Given the description of an element on the screen output the (x, y) to click on. 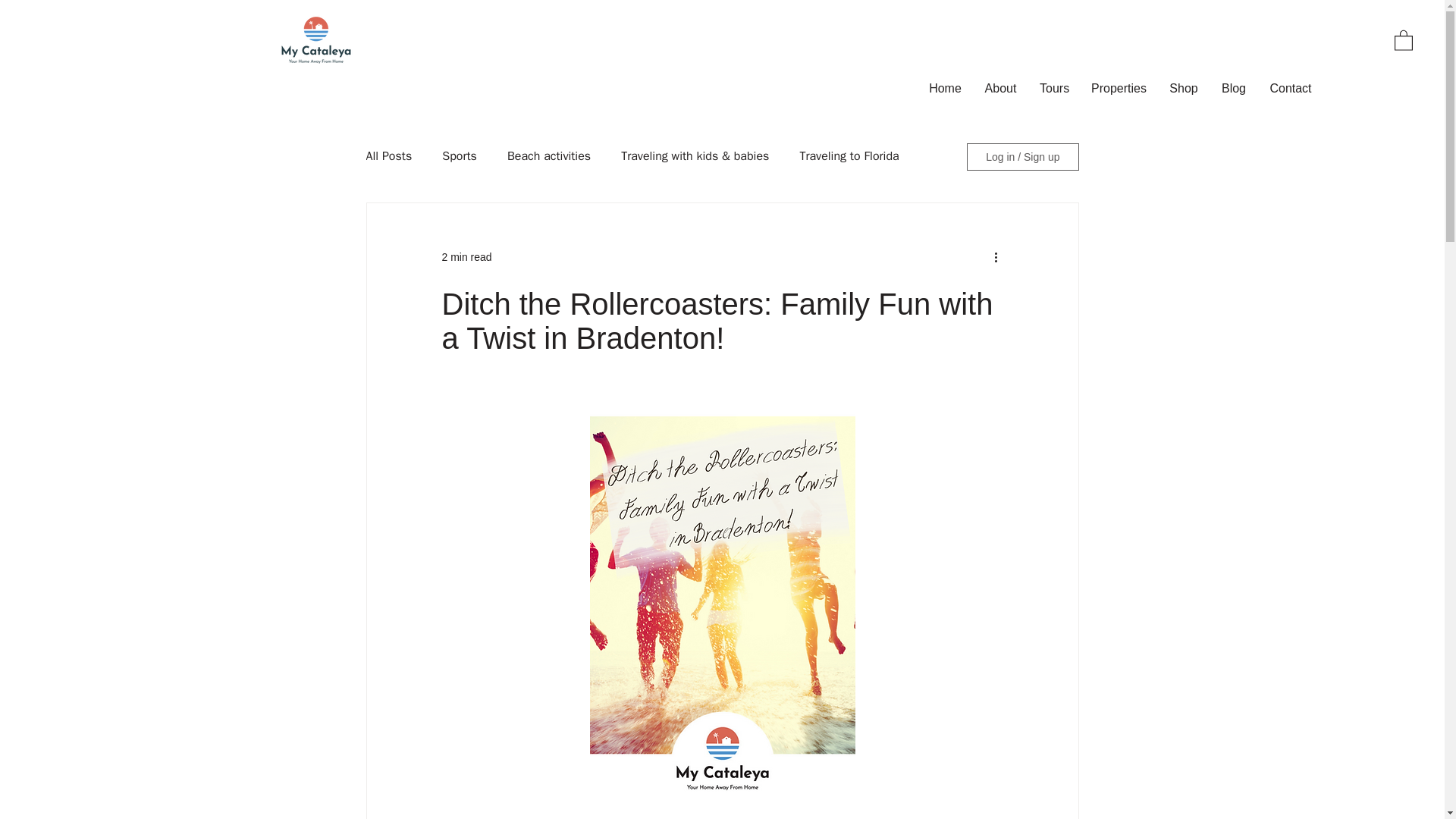
About (999, 87)
Sports (459, 156)
Home (944, 87)
Traveling to Florida (848, 156)
All Posts (388, 156)
Blog (1233, 87)
Tours (1053, 87)
Properties (1118, 87)
Shop (1183, 87)
2 min read (466, 256)
Beach activities (548, 156)
Contact (1290, 87)
